Given the description of an element on the screen output the (x, y) to click on. 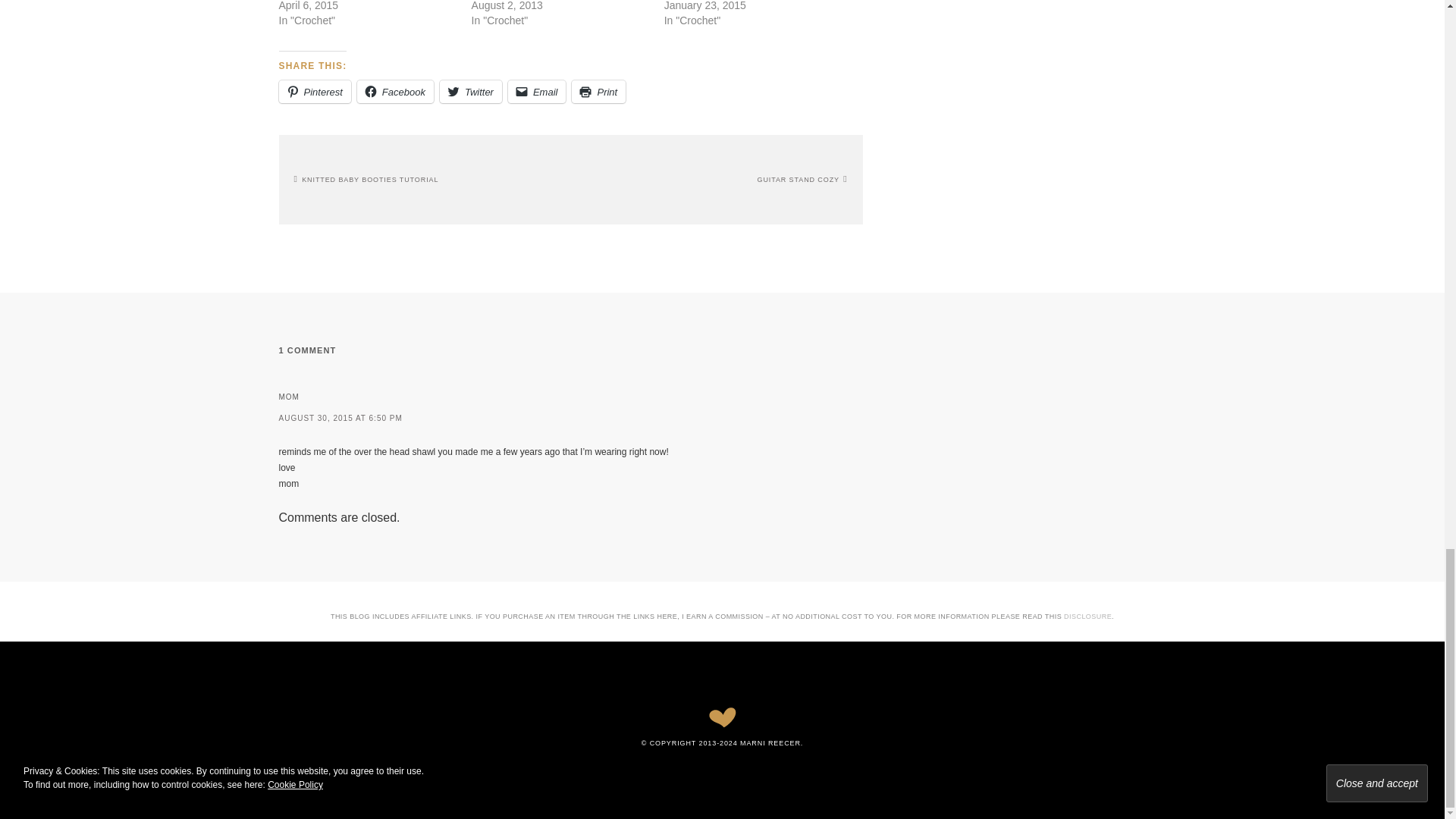
Facebook (394, 91)
Email (537, 91)
GUITAR STAND COZY (802, 179)
Print (599, 91)
Click to share on Pinterest (314, 91)
KNITTED BABY BOOTIES TUTORIAL (366, 179)
Pinterest (314, 91)
Twitter (470, 91)
